Given the description of an element on the screen output the (x, y) to click on. 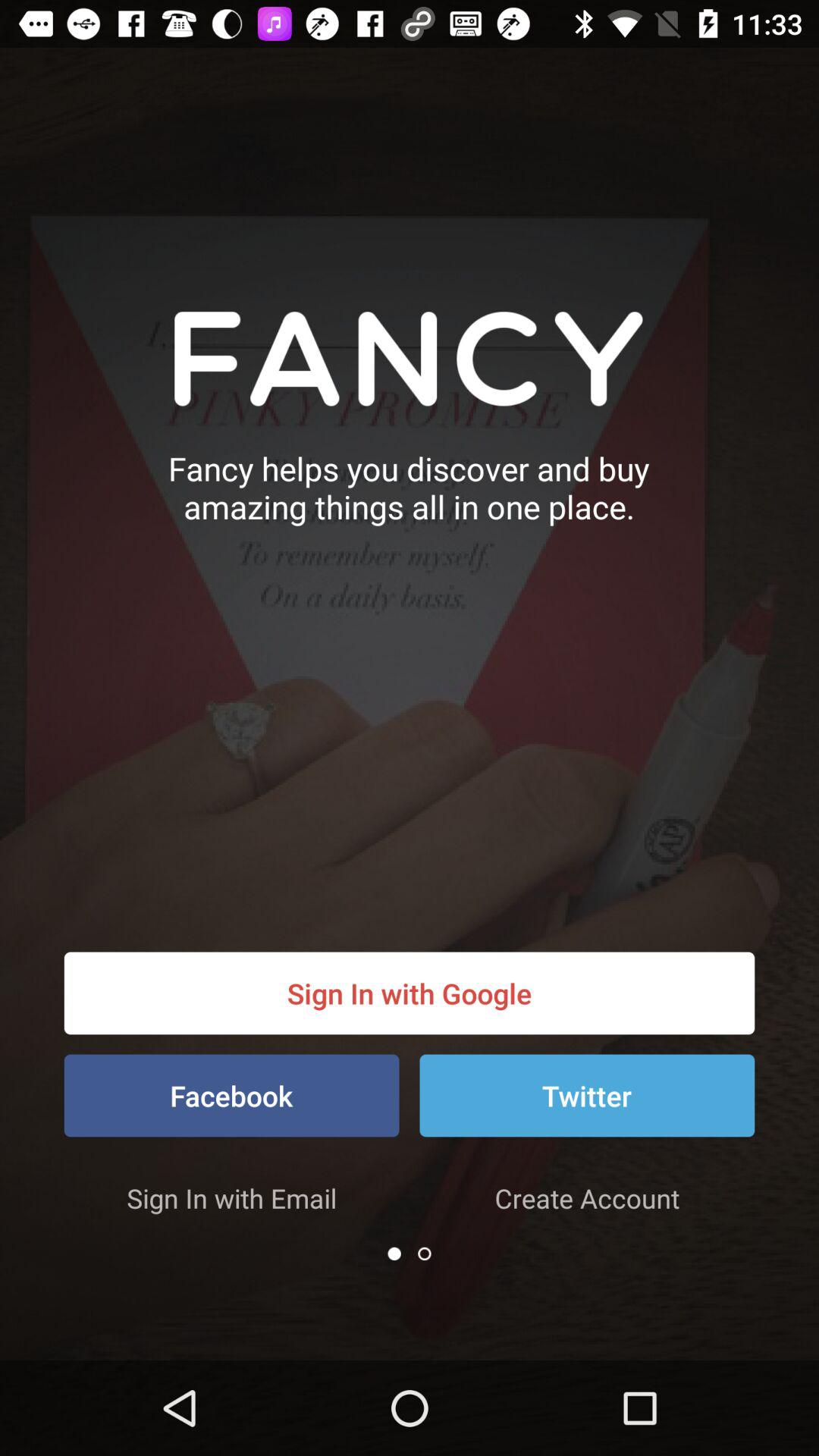
press item above sign in with (231, 1095)
